Given the description of an element on the screen output the (x, y) to click on. 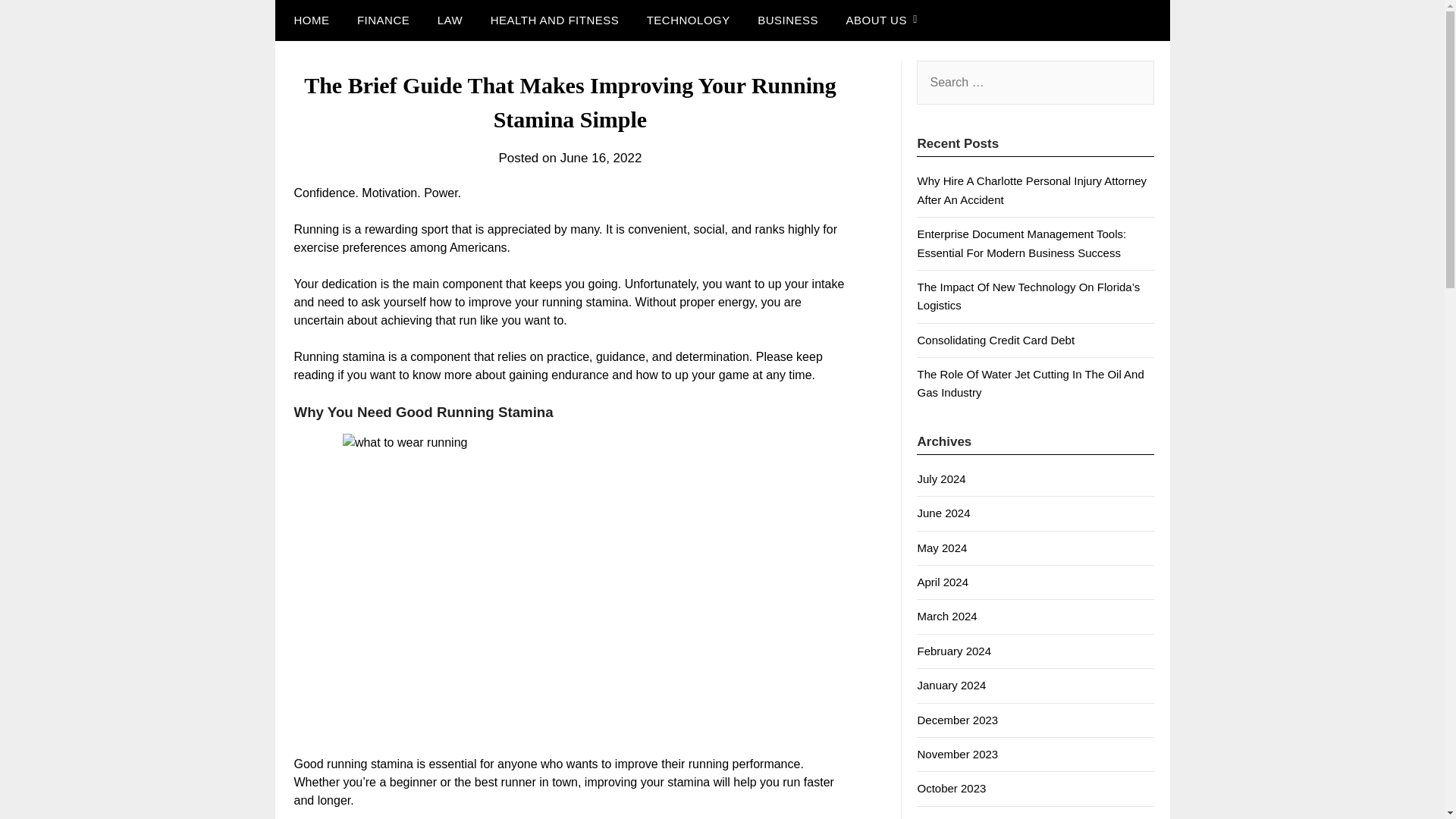
January 2024 (951, 684)
March 2024 (946, 615)
Search (38, 22)
BUSINESS (787, 20)
ABOUT US (875, 20)
December 2023 (957, 719)
April 2024 (942, 581)
May 2024 (941, 547)
LAW (449, 20)
FINANCE (383, 20)
TECHNOLOGY (688, 20)
September 2023 (959, 817)
June 2024 (943, 512)
